Given the description of an element on the screen output the (x, y) to click on. 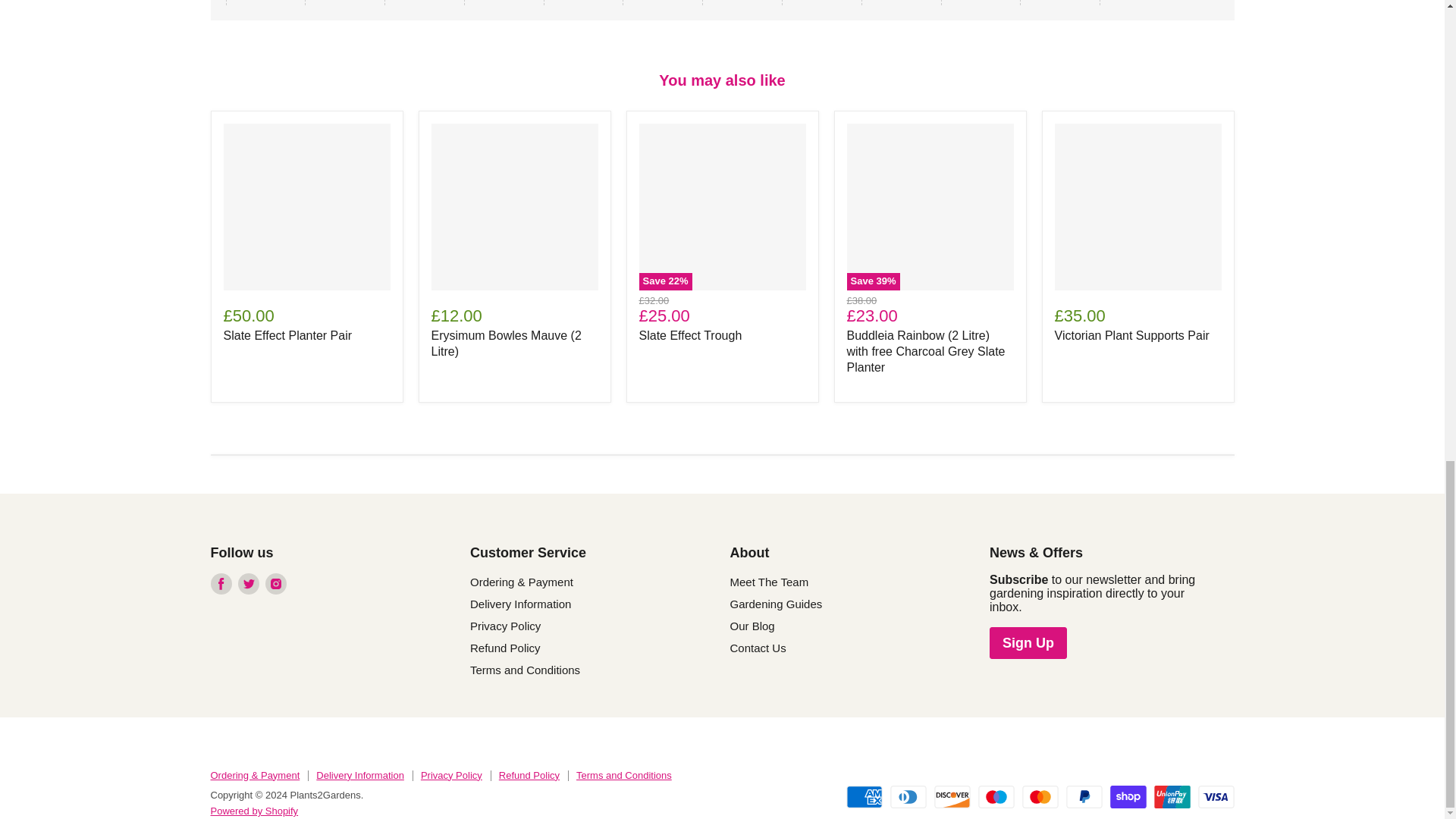
Facebook (221, 583)
Instagram (275, 583)
American Express (863, 796)
Twitter (248, 583)
